Given the description of an element on the screen output the (x, y) to click on. 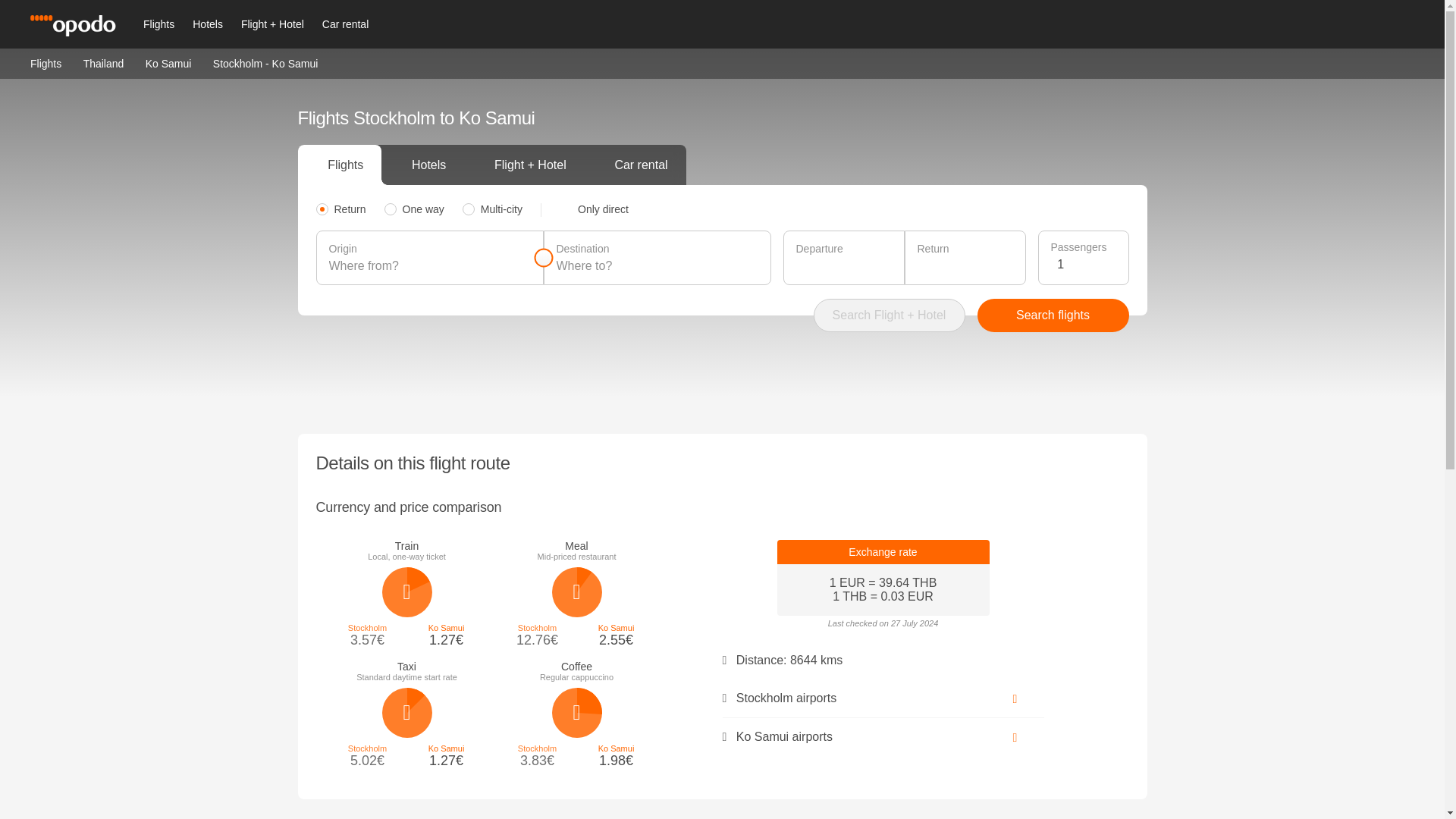
Stockholm - Ko Samui (265, 63)
Thailand (102, 62)
Search flights (1052, 315)
Ko Samui (168, 62)
Flights (158, 24)
Car rental (345, 24)
1 (1086, 263)
Hotels (207, 24)
Flights (45, 62)
